Given the description of an element on the screen output the (x, y) to click on. 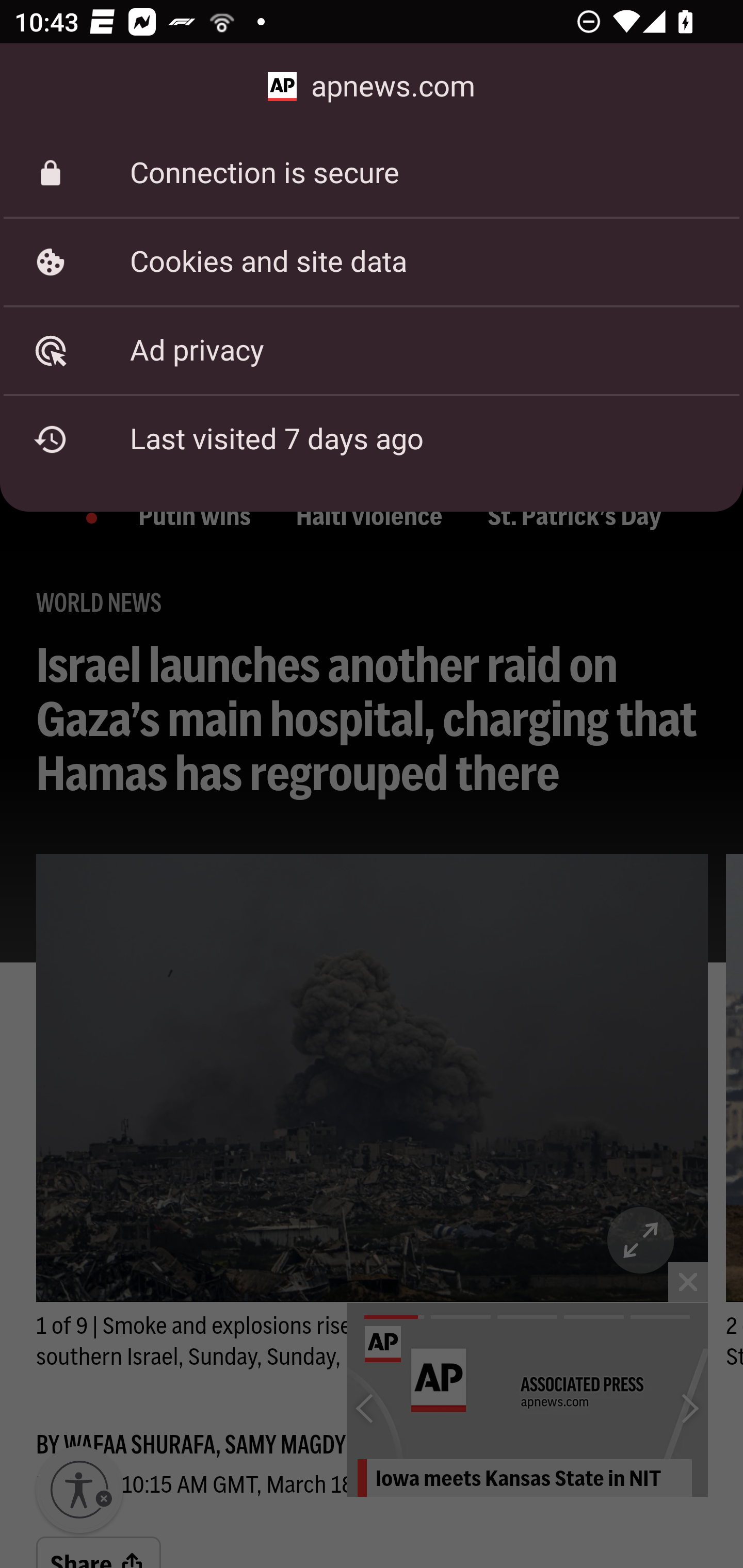
apnews.com (371, 86)
Connection is secure (371, 173)
Cookies and site data (371, 261)
Ad privacy (371, 350)
Last visited 7 days ago (371, 439)
